Given the description of an element on the screen output the (x, y) to click on. 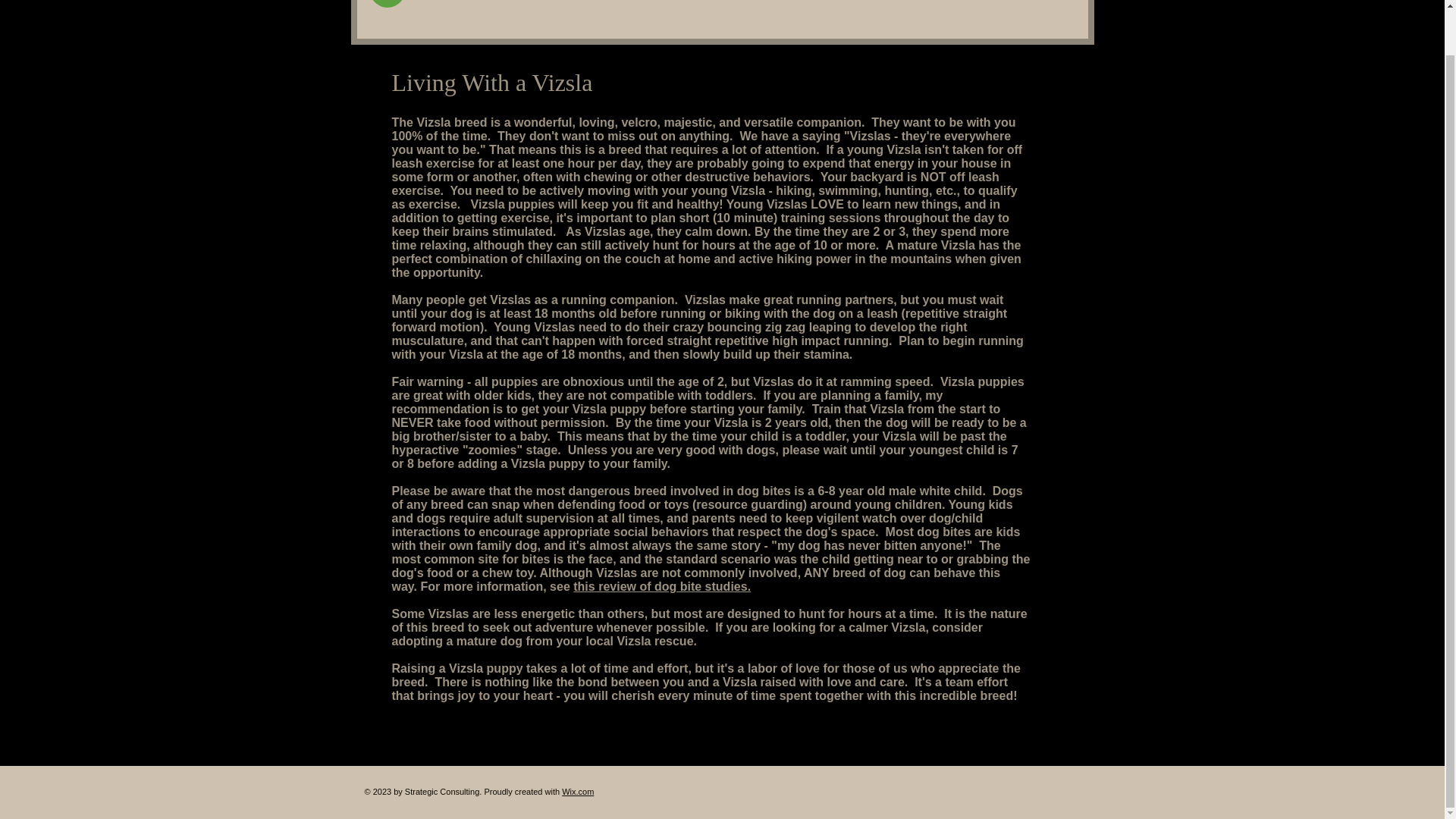
Our Dogs (801, 7)
Resources (1003, 7)
HOME (738, 7)
Puppies (866, 7)
this review of dog bite studies. (662, 585)
Fun Stuff (933, 7)
Wix.com (578, 791)
Blog (1065, 7)
